Given the description of an element on the screen output the (x, y) to click on. 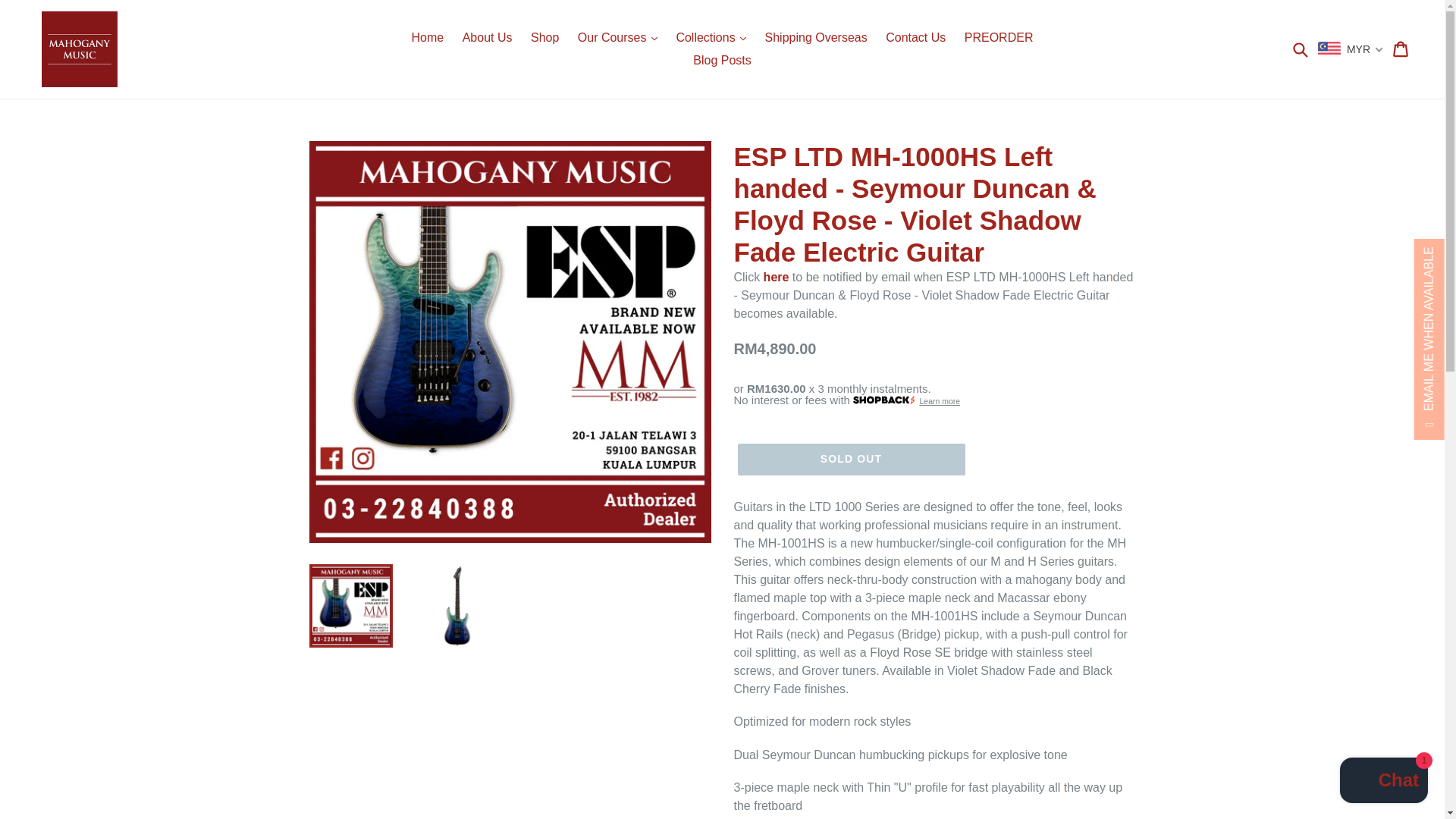
About Us (486, 37)
Shop (544, 37)
Home (427, 37)
Shopify online store chat (1383, 781)
